Given the description of an element on the screen output the (x, y) to click on. 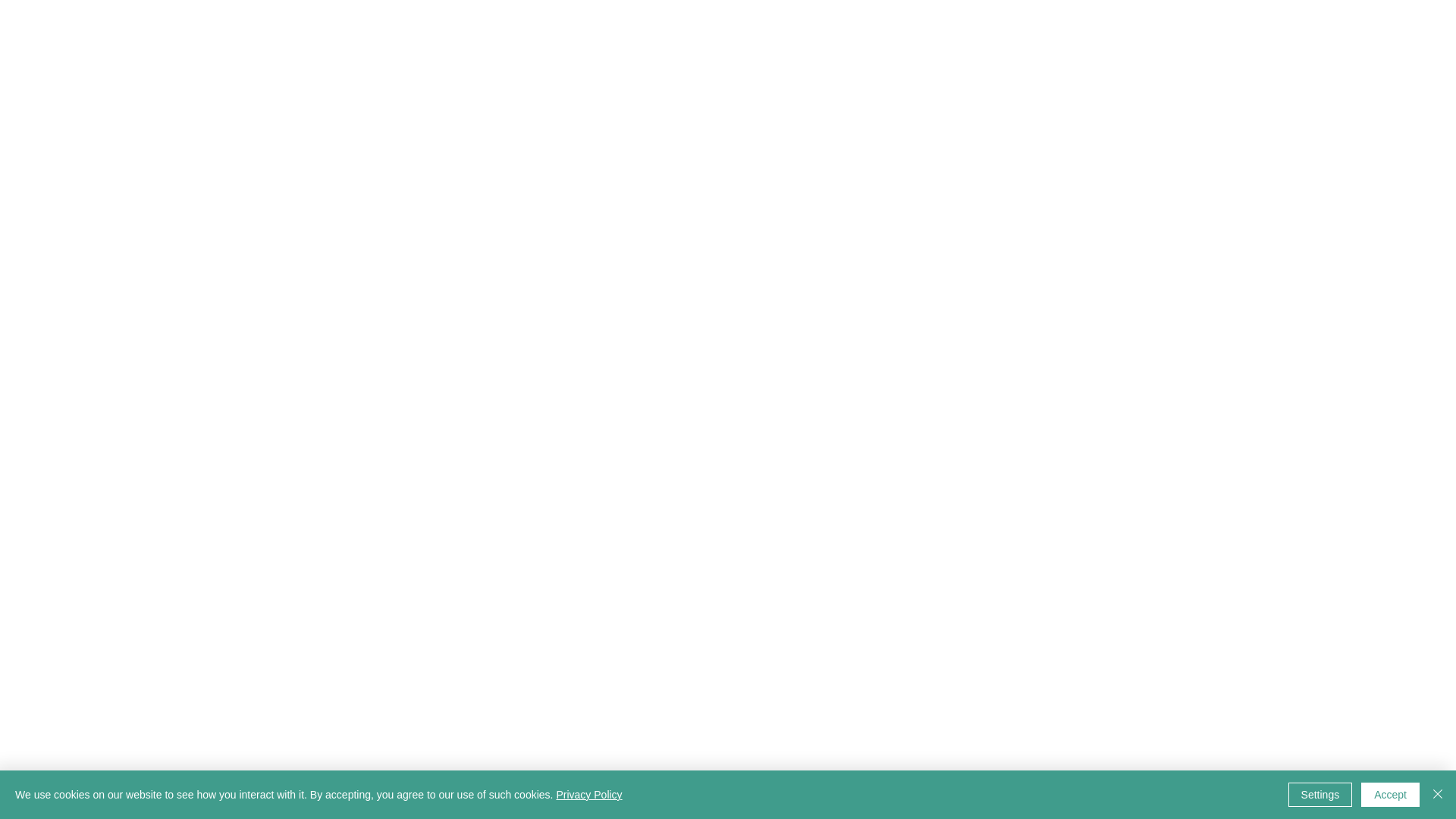
Privacy Policy (588, 794)
Settings (1320, 794)
Accept (1390, 794)
